Given the description of an element on the screen output the (x, y) to click on. 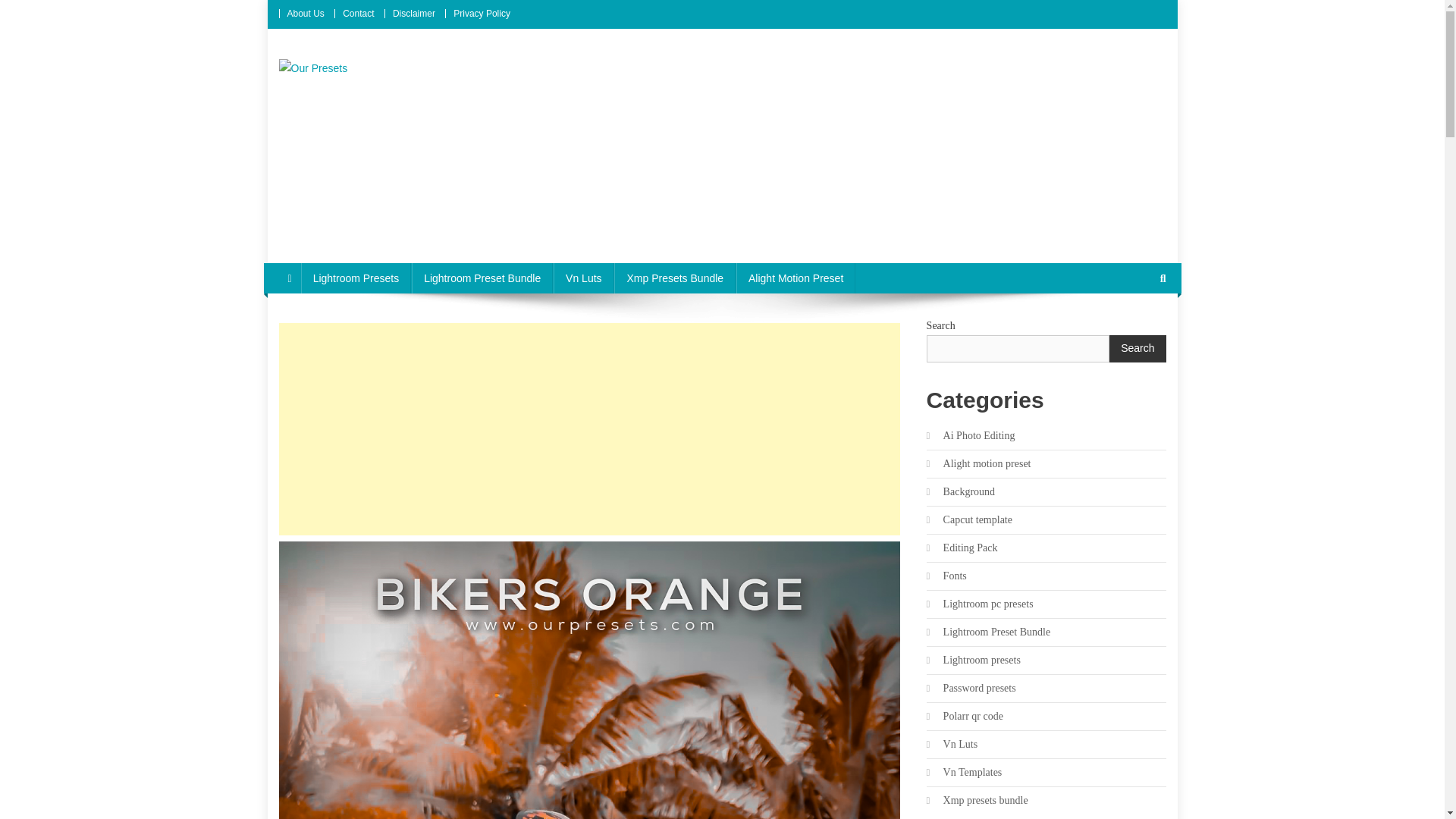
Lightroom Preset Bundle (482, 277)
Our Presets (340, 93)
Alight Motion Preset (796, 277)
Contact (358, 13)
Xmp Presets Bundle (674, 277)
Disclaimer (414, 13)
Vn Luts (582, 277)
Search (1133, 329)
Privacy Policy (481, 13)
Lightroom Presets (356, 277)
About Us (304, 13)
